Given the description of an element on the screen output the (x, y) to click on. 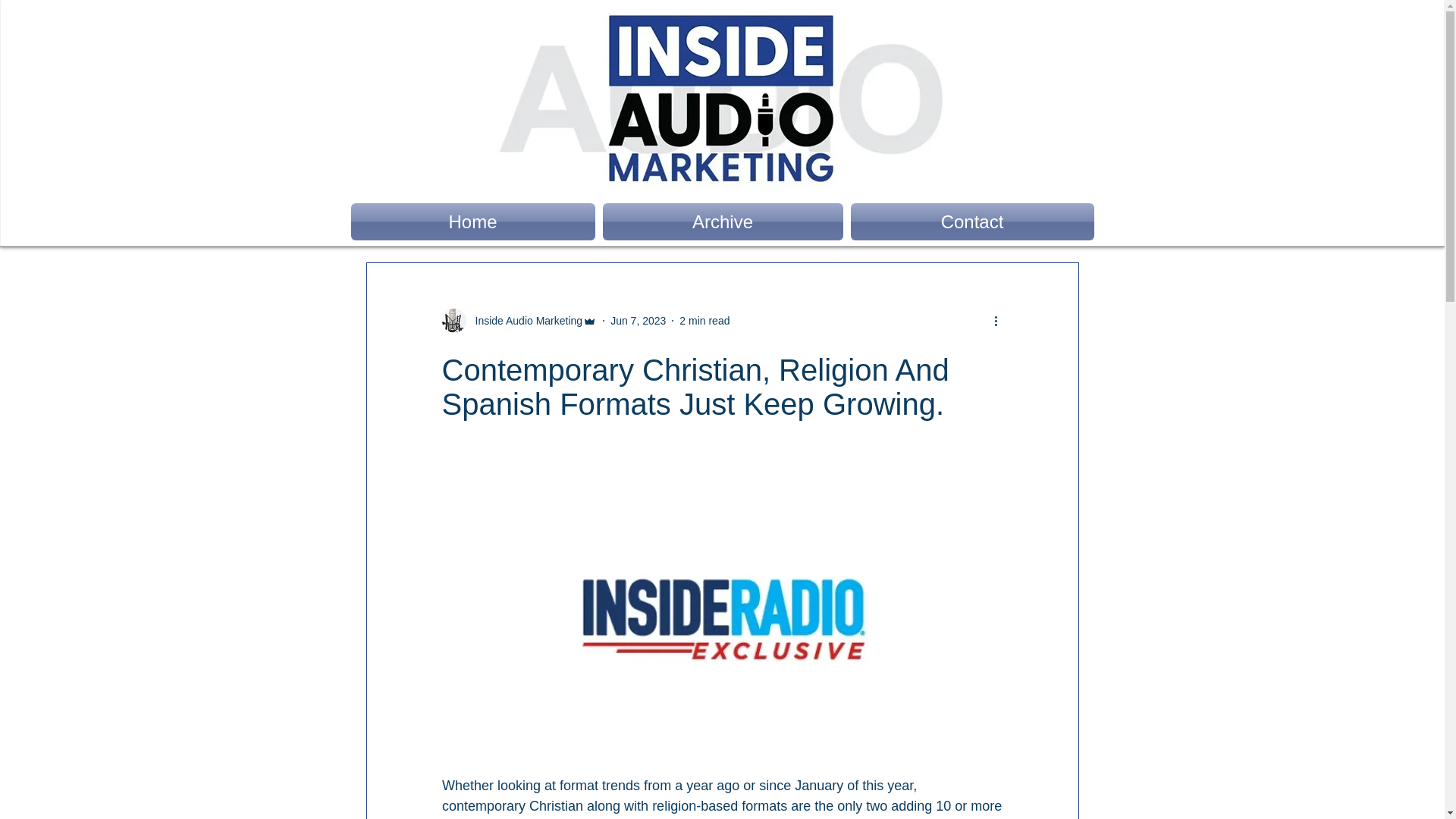
Archive (722, 221)
Home (474, 221)
Contact (969, 221)
Inside Audio Marketing (518, 320)
Inside Audio Marketing (523, 320)
2 min read (704, 319)
Jun 7, 2023 (637, 319)
